Given the description of an element on the screen output the (x, y) to click on. 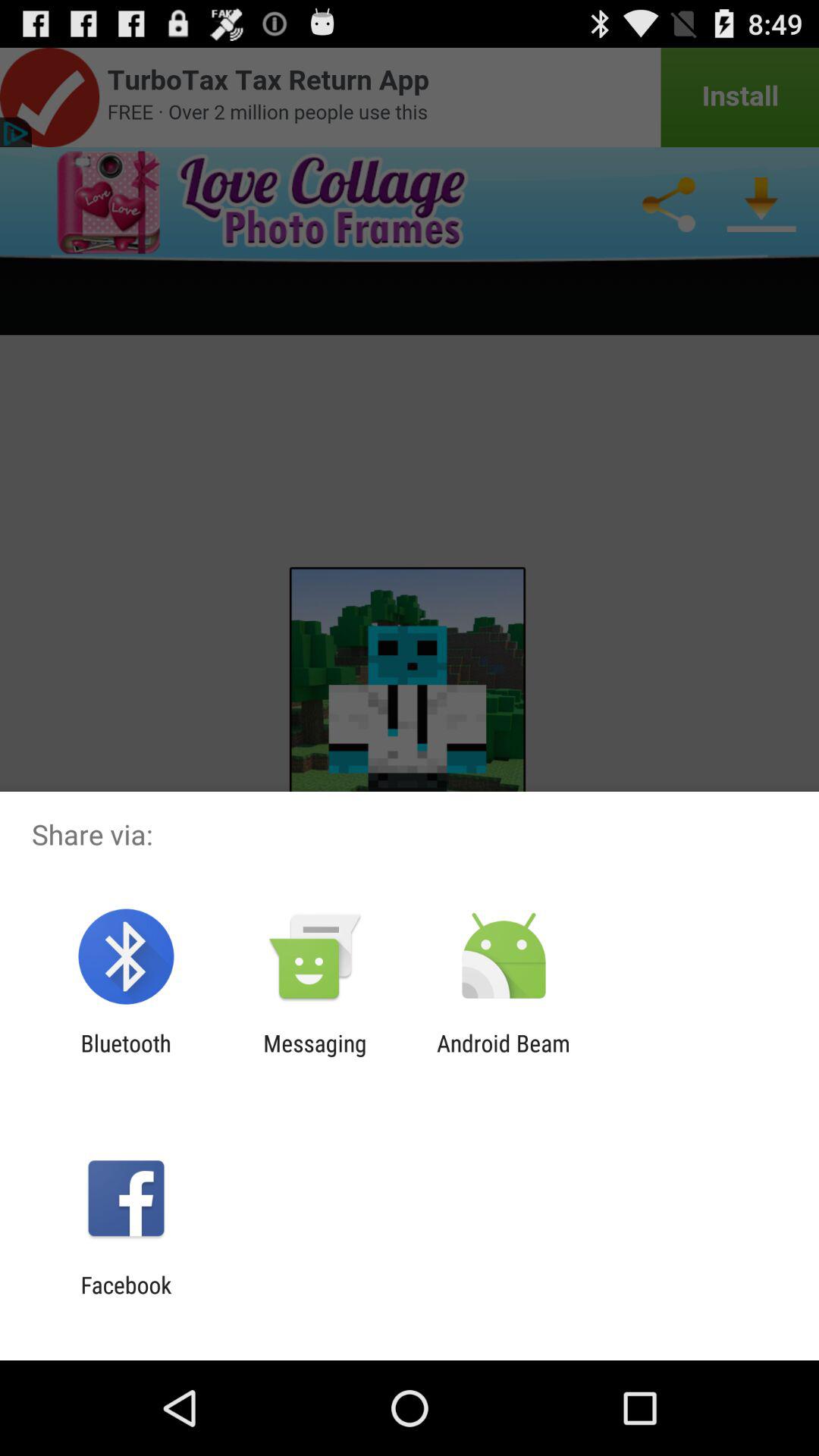
launch facebook (125, 1298)
